Given the description of an element on the screen output the (x, y) to click on. 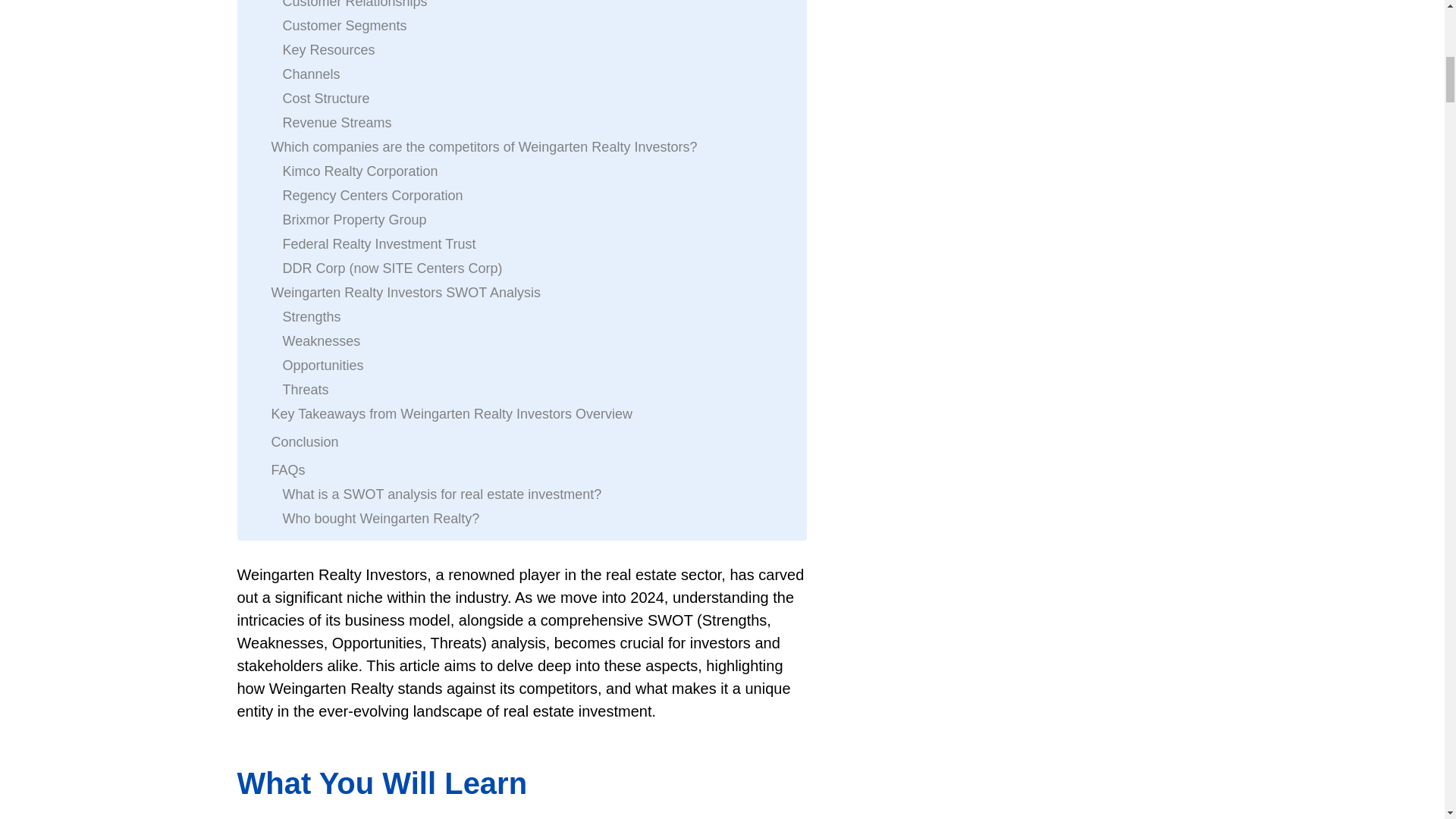
Threats (305, 389)
What is a SWOT analysis for real estate investment? (441, 494)
FAQs (287, 469)
Cost Structure (325, 97)
Customer Segments (344, 25)
Brixmor Property Group (354, 219)
Opportunities (322, 364)
Key Resources (328, 49)
Federal Realty Investment Trust (379, 243)
